Given the description of an element on the screen output the (x, y) to click on. 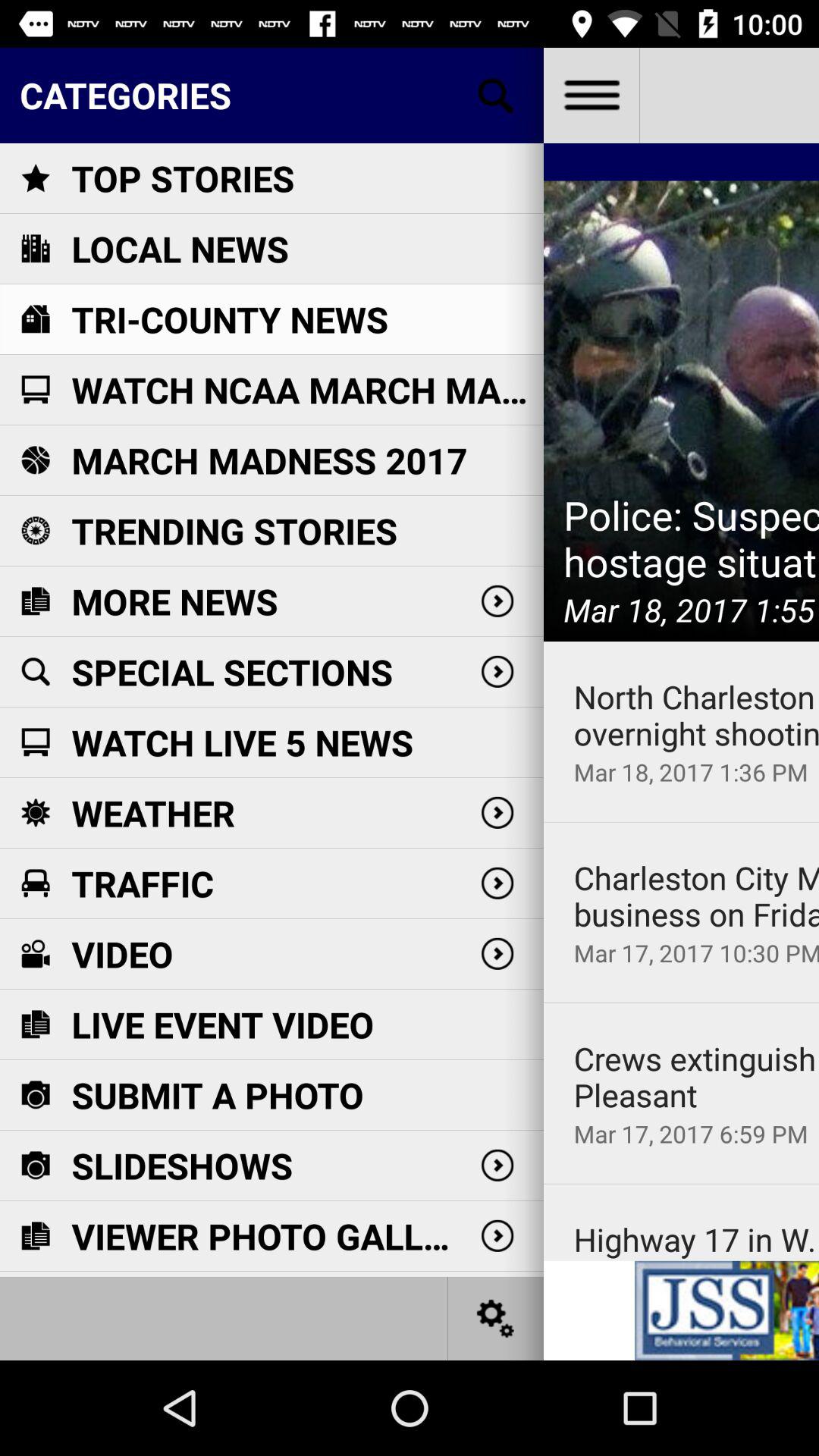
launch the icon above the viewer photo gallery item (181, 1165)
